Given the description of an element on the screen output the (x, y) to click on. 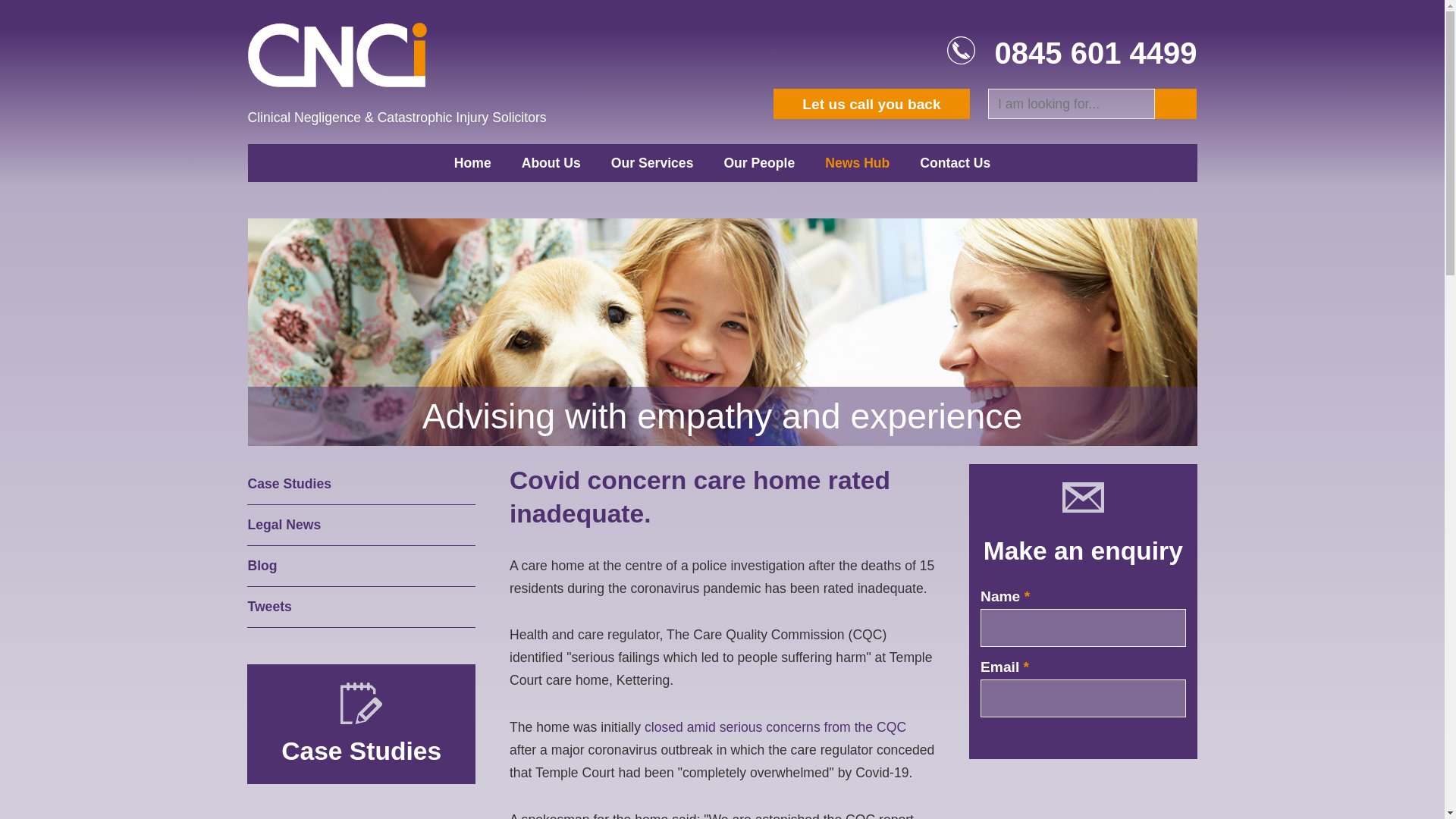
About Us (550, 162)
Our People (758, 162)
Legal News (360, 525)
closed amid serious concerns from the CQC (775, 726)
Case Studies (361, 751)
Let us call you back (871, 103)
Case Studies (360, 484)
Tweets (360, 607)
Blog (360, 566)
Make an enquiry (1083, 551)
Contact Us (955, 162)
Home (472, 162)
News Hub (856, 162)
Our Services (652, 162)
0845 601 4499 (1095, 52)
